Given the description of an element on the screen output the (x, y) to click on. 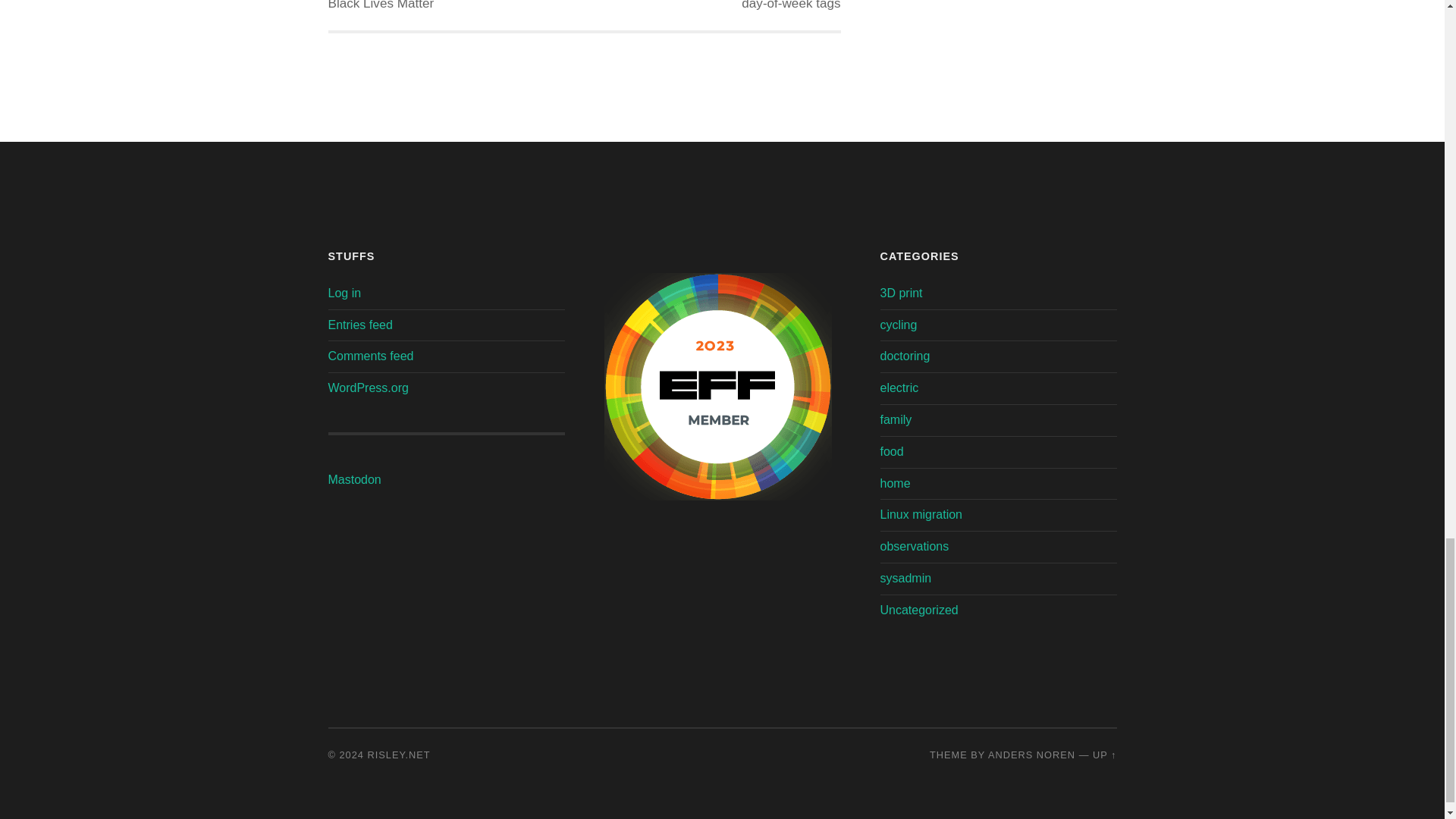
To the top (1104, 754)
Log in (344, 292)
